Given the description of an element on the screen output the (x, y) to click on. 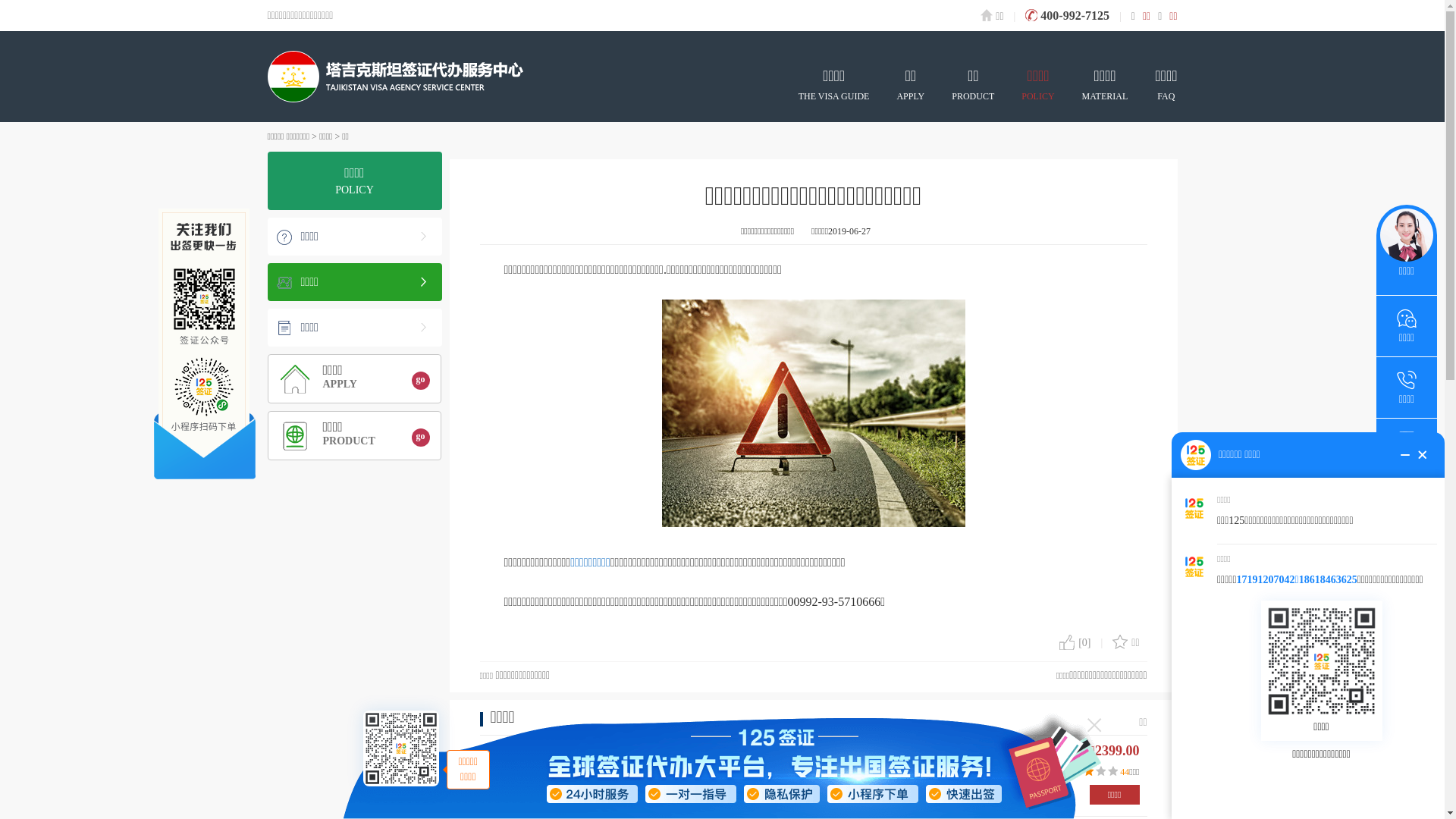
[0] Element type: text (1074, 642)
